Given the description of an element on the screen output the (x, y) to click on. 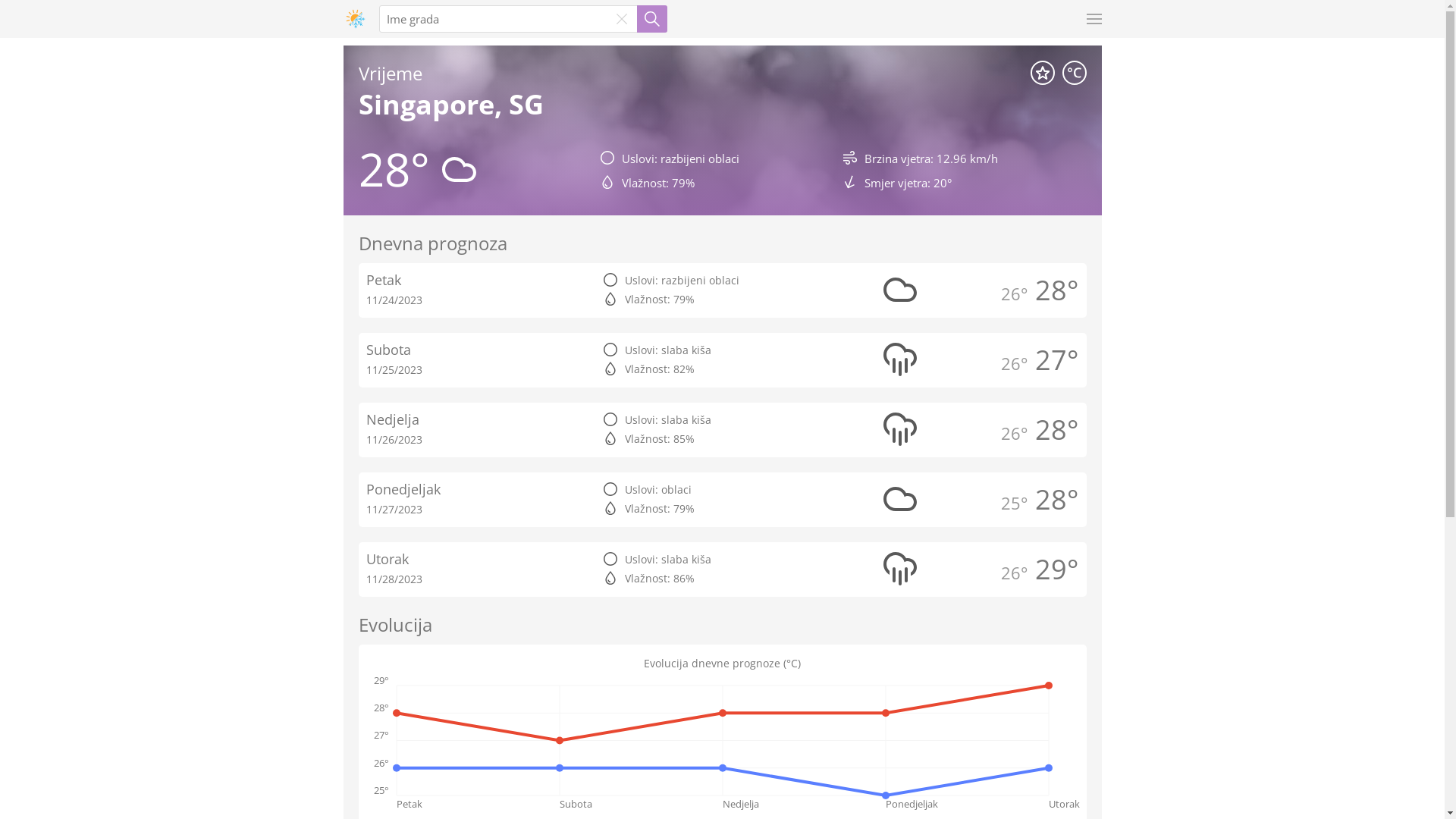
Singapore, SG Element type: text (449, 103)
